Given the description of an element on the screen output the (x, y) to click on. 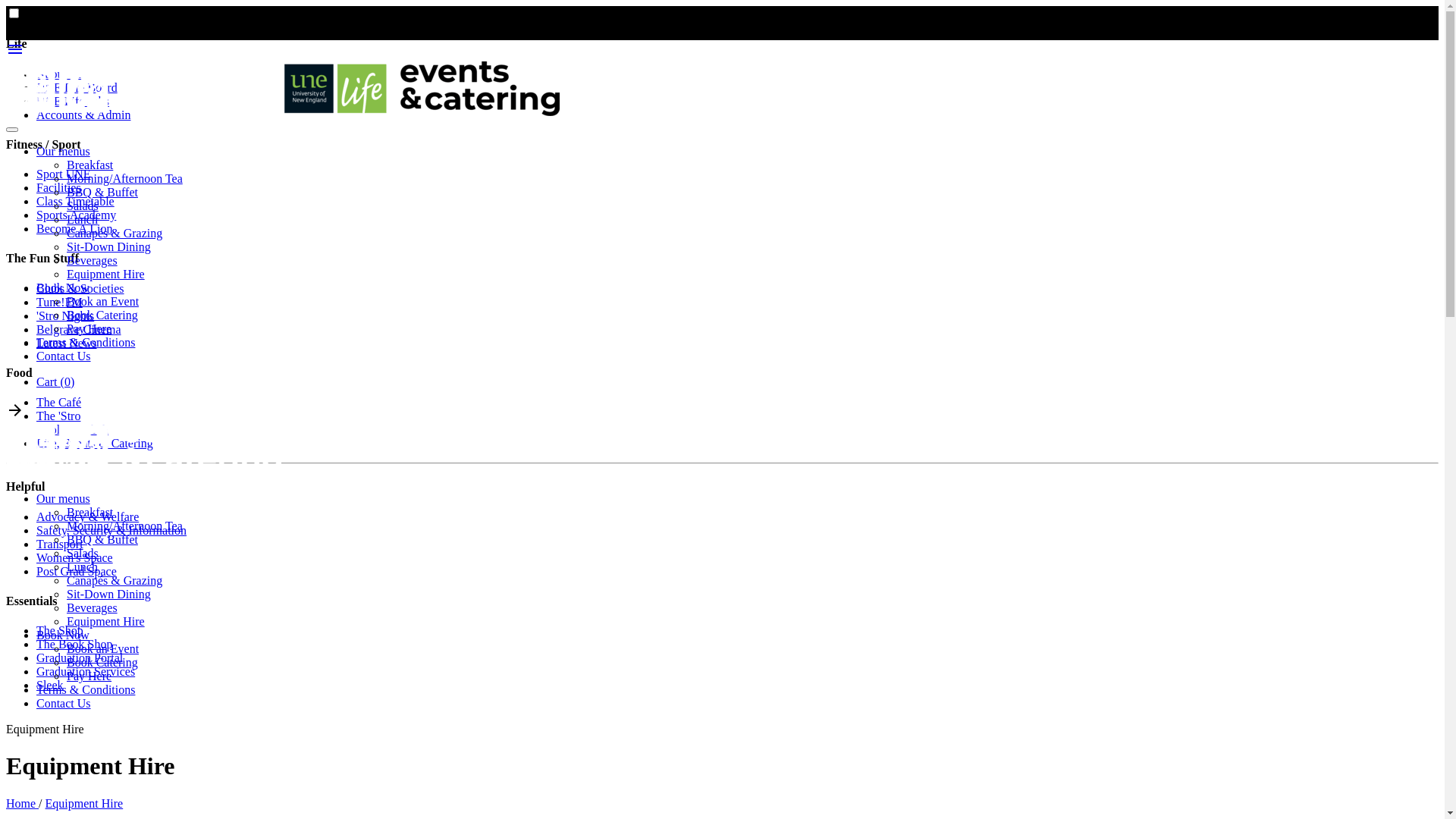
Book an Event Element type: text (102, 300)
Beverages Element type: text (91, 260)
The 'Stro Element type: text (58, 415)
Sports Academy Element type: text (76, 214)
Our menus Element type: text (63, 150)
menu Element type: text (15, 53)
UNE Life Jobs Element type: text (72, 100)
About Us Element type: text (59, 73)
Contact Us Element type: text (63, 702)
Book Catering Element type: text (102, 661)
Terms & Conditions Element type: text (85, 341)
Tune!FM Element type: text (59, 301)
Pay Here Element type: text (88, 328)
Beverages Element type: text (91, 607)
BBQ & Buffet Element type: text (102, 539)
Book Catering Element type: text (102, 314)
Safety, Security & Information Element type: text (111, 530)
BBQ & Buffet Element type: text (102, 191)
Sport UNE Element type: text (63, 173)
Advocacy & Welfare Element type: text (87, 516)
Post Grad Space Element type: text (76, 570)
Book Now Element type: text (62, 634)
Breakfast Element type: text (89, 164)
Booloominbah Element type: text (72, 429)
Lunch Element type: text (81, 566)
Equipment Hire Element type: text (105, 273)
Belgrave Cinema Element type: text (78, 329)
Lunch Element type: text (81, 219)
Book Now Element type: text (62, 287)
Morning/Afternoon Tea Element type: text (124, 525)
Terms & Conditions Element type: text (85, 689)
Cart (0) Element type: text (55, 381)
Life, Events & Catering Element type: text (94, 442)
The Book Shop Element type: text (74, 643)
Salads Element type: text (82, 552)
Breakfast Element type: text (89, 511)
Book an Event Element type: text (102, 648)
Graduation Portal Element type: text (79, 657)
Contact Us Element type: text (63, 355)
Class Timetable Element type: text (75, 200)
Facilities Element type: text (58, 187)
Latest News Element type: text (66, 342)
Clubs & Societies Element type: text (80, 288)
Salads Element type: text (82, 205)
Sit-Down Dining Element type: text (108, 593)
Home Element type: text (22, 803)
Pay Here Element type: text (88, 675)
Sit-Down Dining Element type: text (108, 246)
Our menus Element type: text (63, 498)
Graduation Services Element type: text (85, 671)
'Stro Nights Element type: text (65, 315)
Accounts & Admin Element type: text (83, 114)
Become A Lion Element type: text (74, 228)
Equipment Hire Element type: text (105, 621)
Women's Space Element type: text (74, 557)
Transport Element type: text (59, 543)
Morning/Afternoon Tea Element type: text (124, 178)
Sleek Element type: text (49, 684)
The Shop Element type: text (59, 630)
UNE Life Board Element type: text (76, 87)
Equipment Hire Element type: text (84, 803)
